Given the description of an element on the screen output the (x, y) to click on. 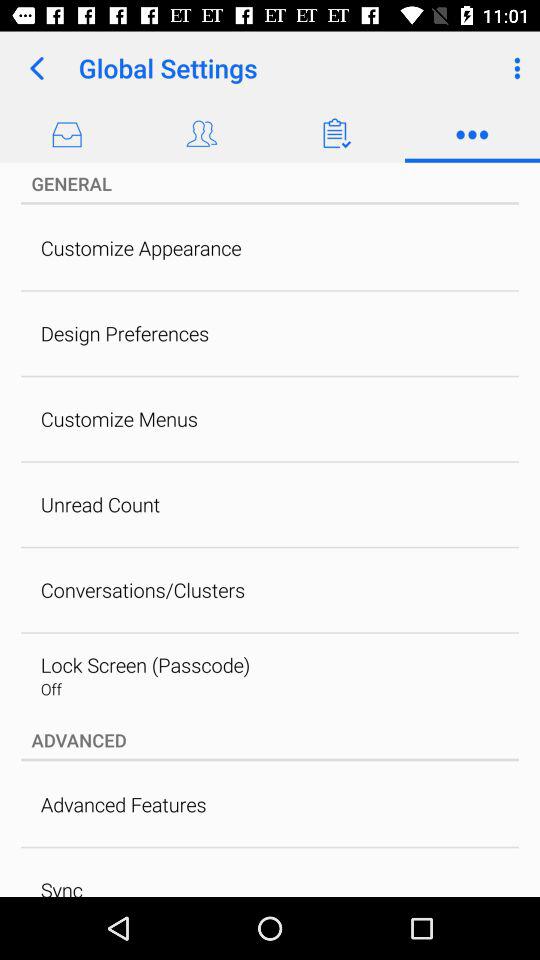
click app above conversations/clusters icon (100, 504)
